Given the description of an element on the screen output the (x, y) to click on. 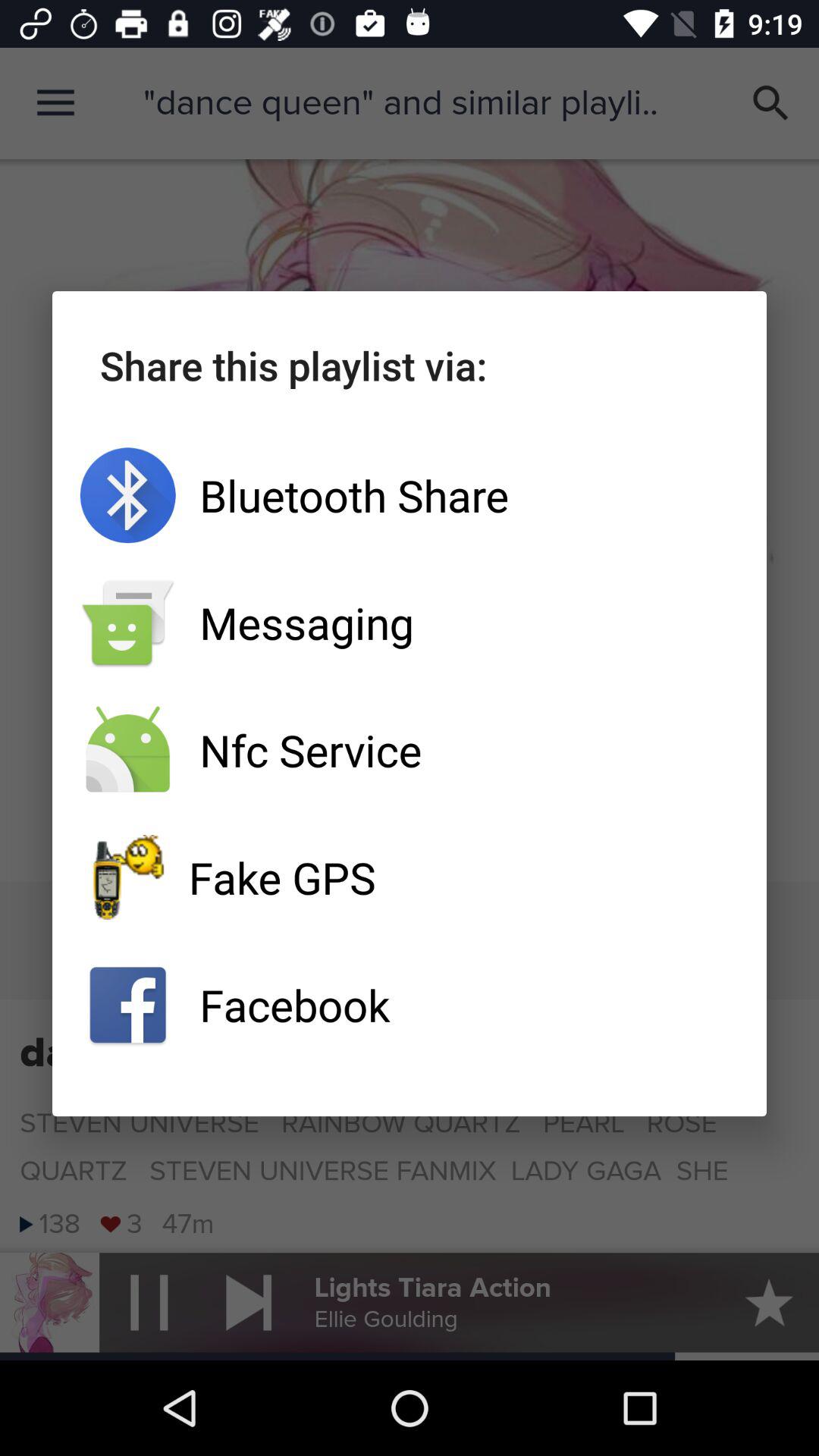
open item below share this playlist icon (409, 495)
